Given the description of an element on the screen output the (x, y) to click on. 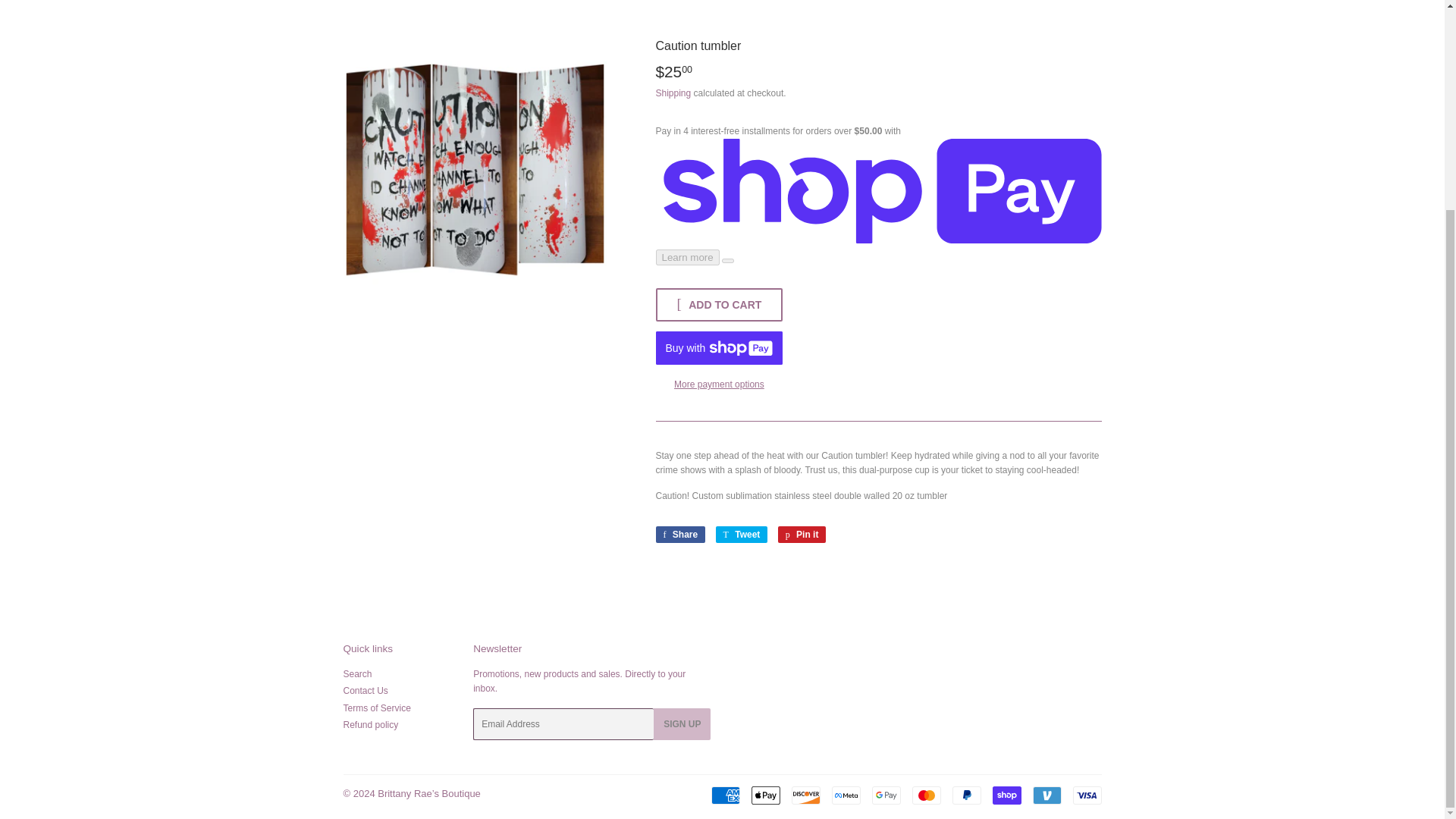
PayPal (966, 795)
Tweet on Twitter (742, 534)
Pin on Pinterest (802, 534)
Shop Pay (1005, 795)
Visa (1085, 795)
Meta Pay (845, 795)
American Express (725, 795)
Venmo (1046, 795)
Apple Pay (764, 795)
Mastercard (925, 795)
Discover (806, 795)
Google Pay (886, 795)
Share on Facebook (679, 534)
